Given the description of an element on the screen output the (x, y) to click on. 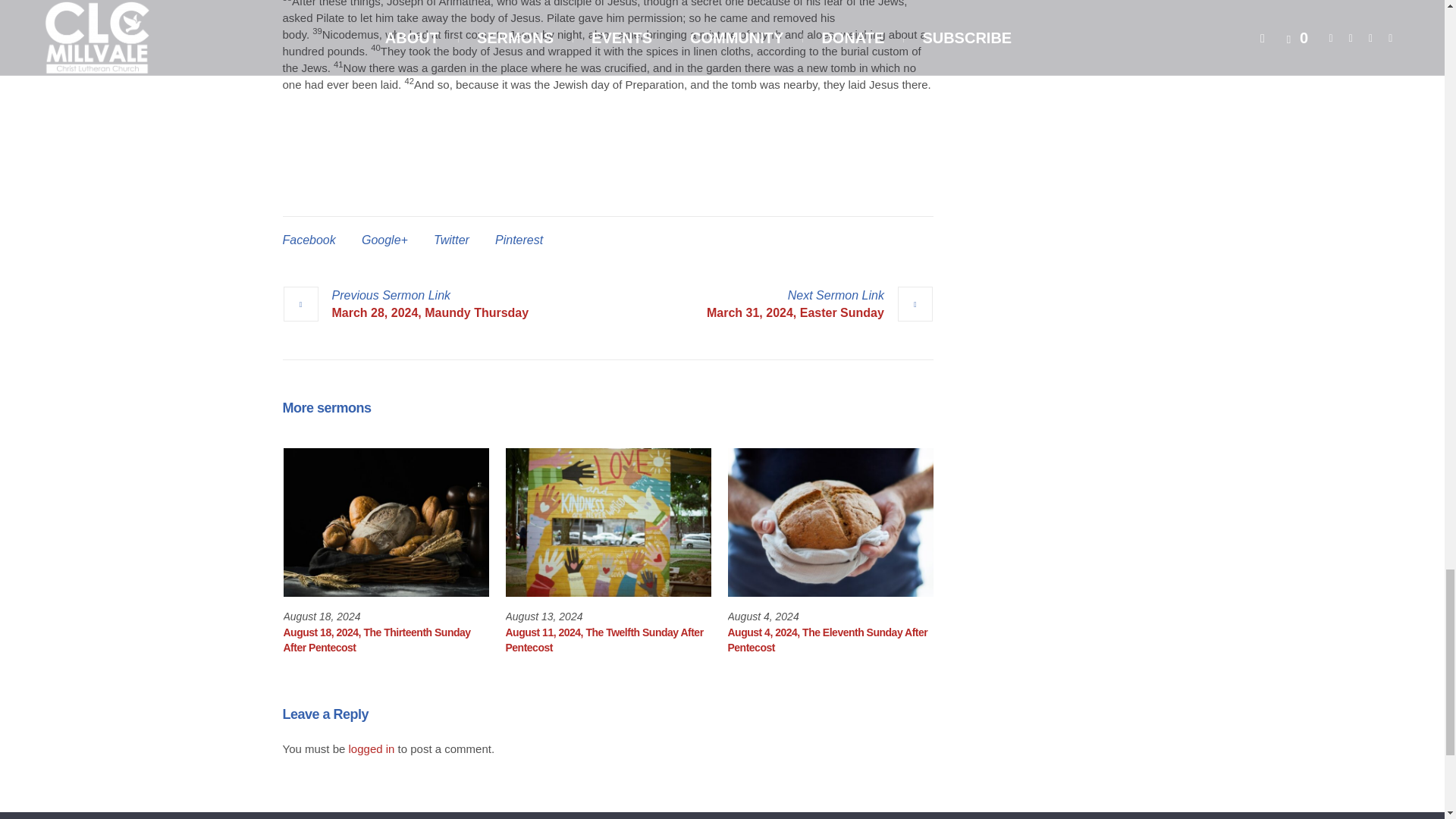
August 18, 2024, The Thirteenth Sunday After Pentecost (376, 639)
Pinterest (519, 239)
Facebook (308, 239)
Twitter (450, 239)
August 18, 2024 (322, 616)
logged in (371, 748)
March 28, 2024, Maundy Thursday (405, 303)
August 18, 2024, The Thirteenth Sunday After Pentecost (386, 522)
August 4, 2024, The Eleventh Sunday After Pentecost (828, 639)
August 11, 2024, The Twelfth Sunday After Pentecost (604, 639)
